Given the description of an element on the screen output the (x, y) to click on. 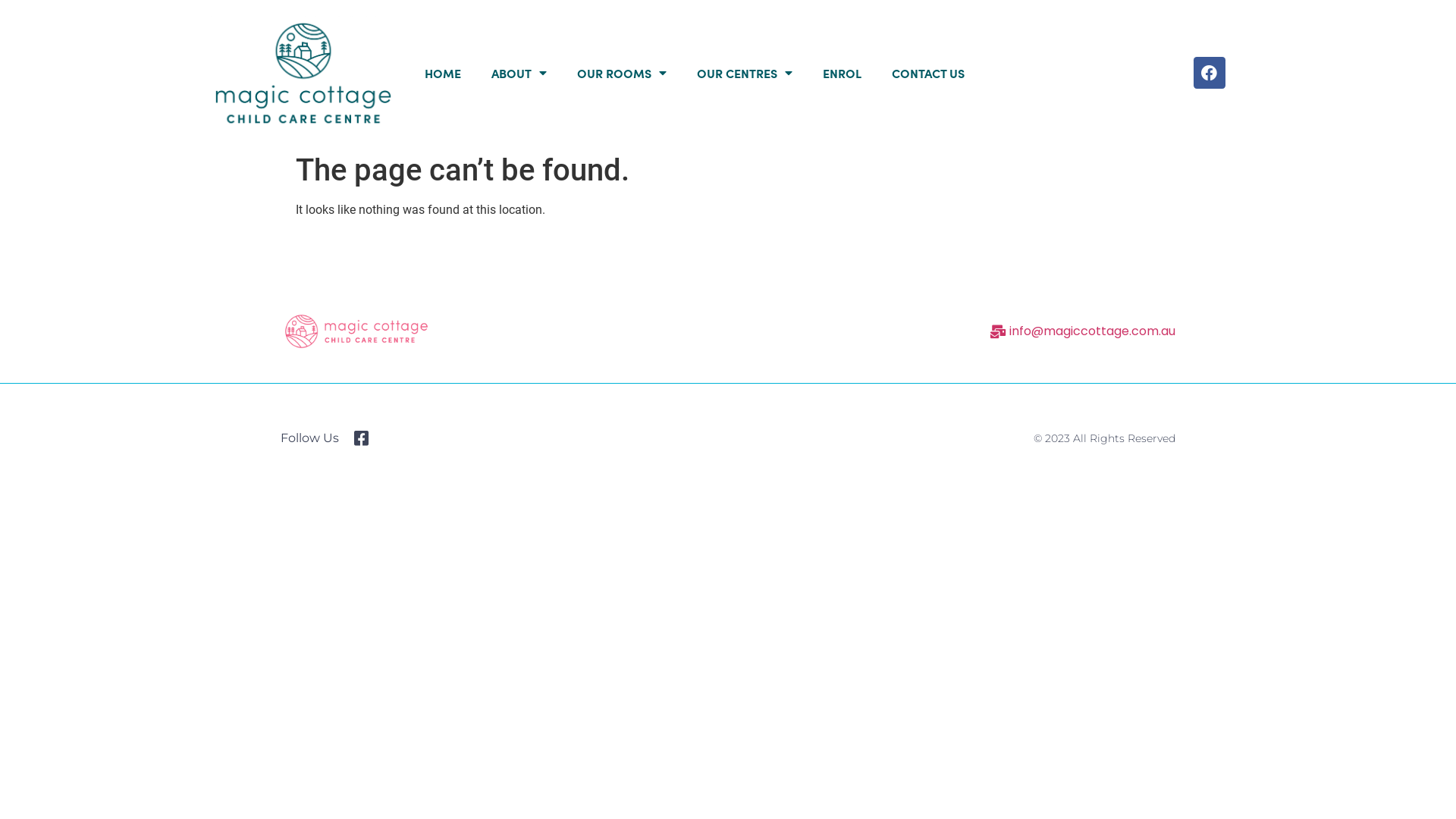
ENROL Element type: text (841, 72)
CONTACT US Element type: text (927, 72)
HOME Element type: text (442, 72)
OUR CENTRES Element type: text (744, 72)
OUR ROOMS Element type: text (621, 72)
info@magiccottage.com.au Element type: text (887, 331)
ABOUT Element type: text (518, 72)
